Given the description of an element on the screen output the (x, y) to click on. 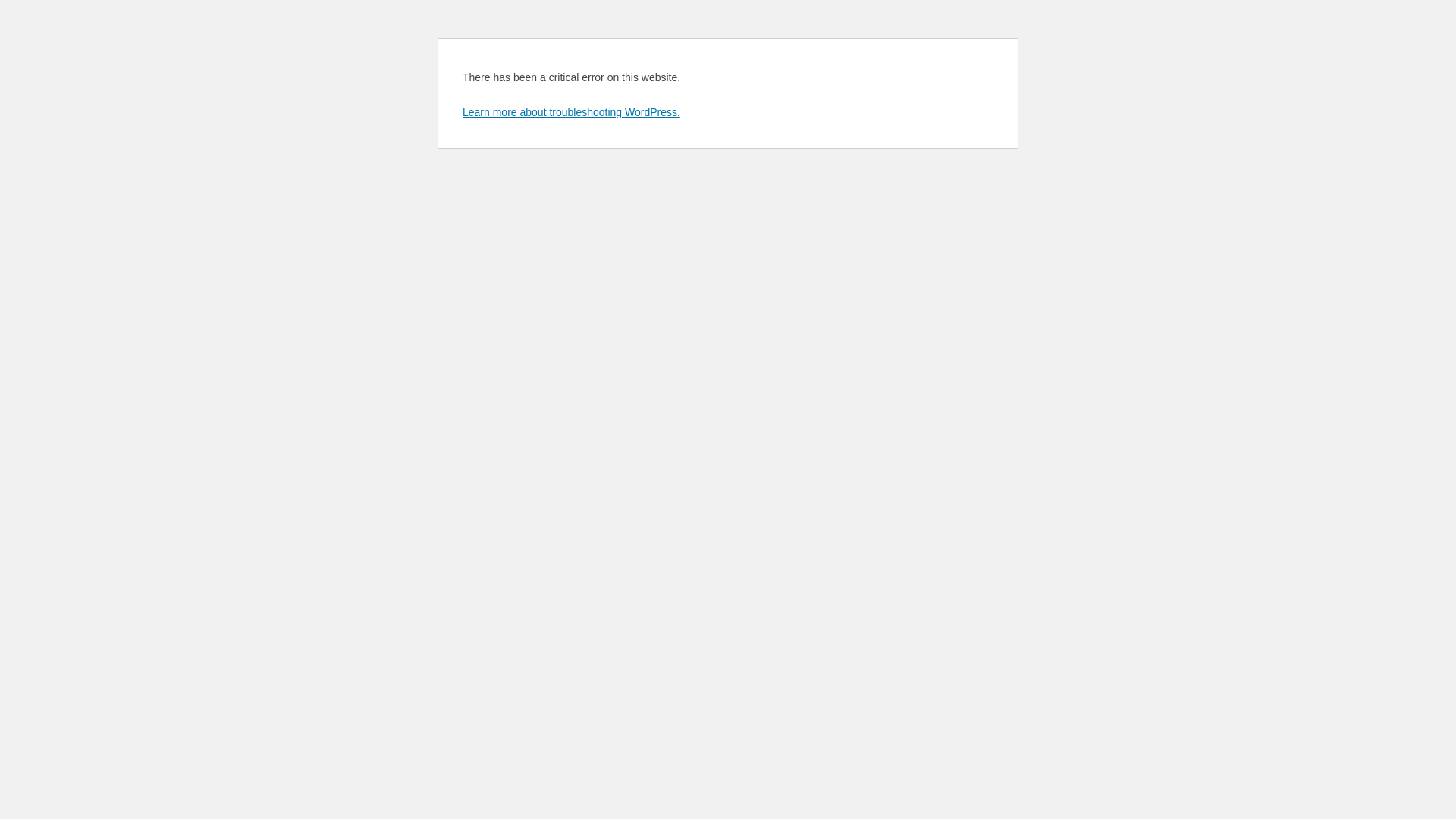
Learn more about troubleshooting WordPress. Element type: text (571, 112)
